Given the description of an element on the screen output the (x, y) to click on. 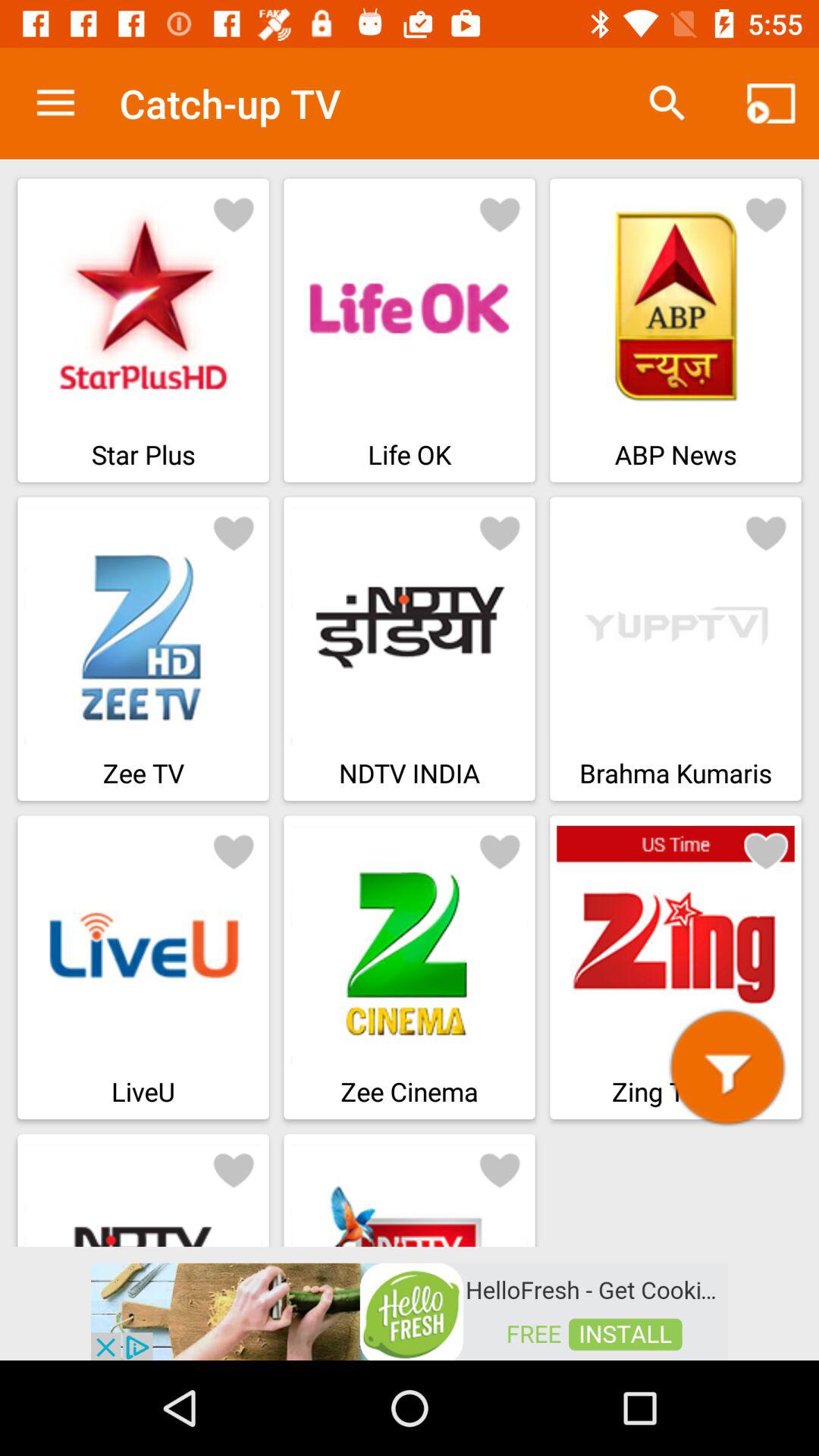
go to advertisement page (409, 1310)
